Given the description of an element on the screen output the (x, y) to click on. 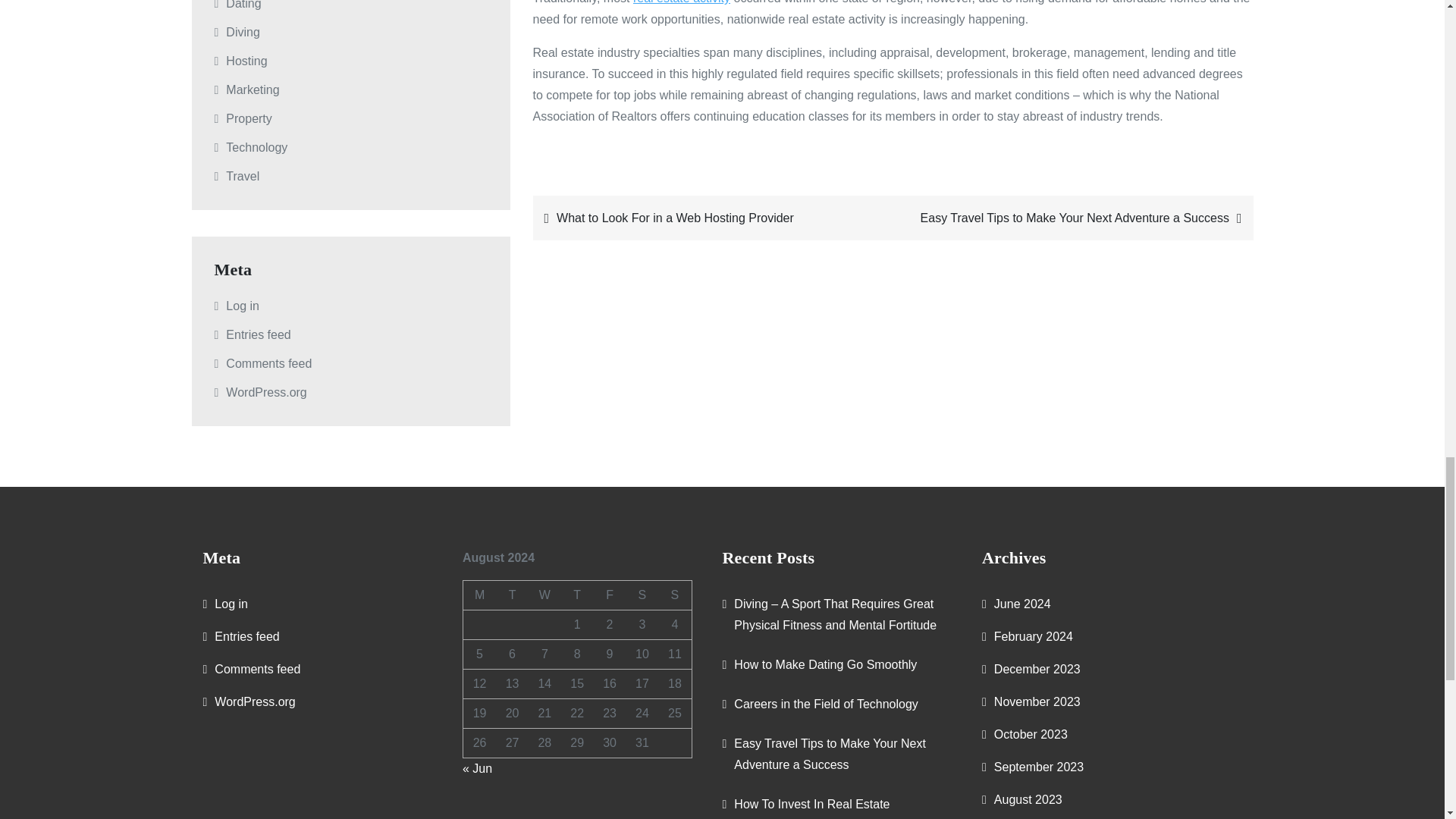
Wednesday (544, 595)
What to Look For in a Web Hosting Provider (709, 218)
Thursday (577, 595)
real estate activity (681, 2)
Easy Travel Tips to Make Your Next Adventure a Success (1076, 218)
Friday (610, 595)
Saturday (642, 595)
Sunday (674, 595)
Tuesday (512, 595)
Monday (479, 595)
